Given the description of an element on the screen output the (x, y) to click on. 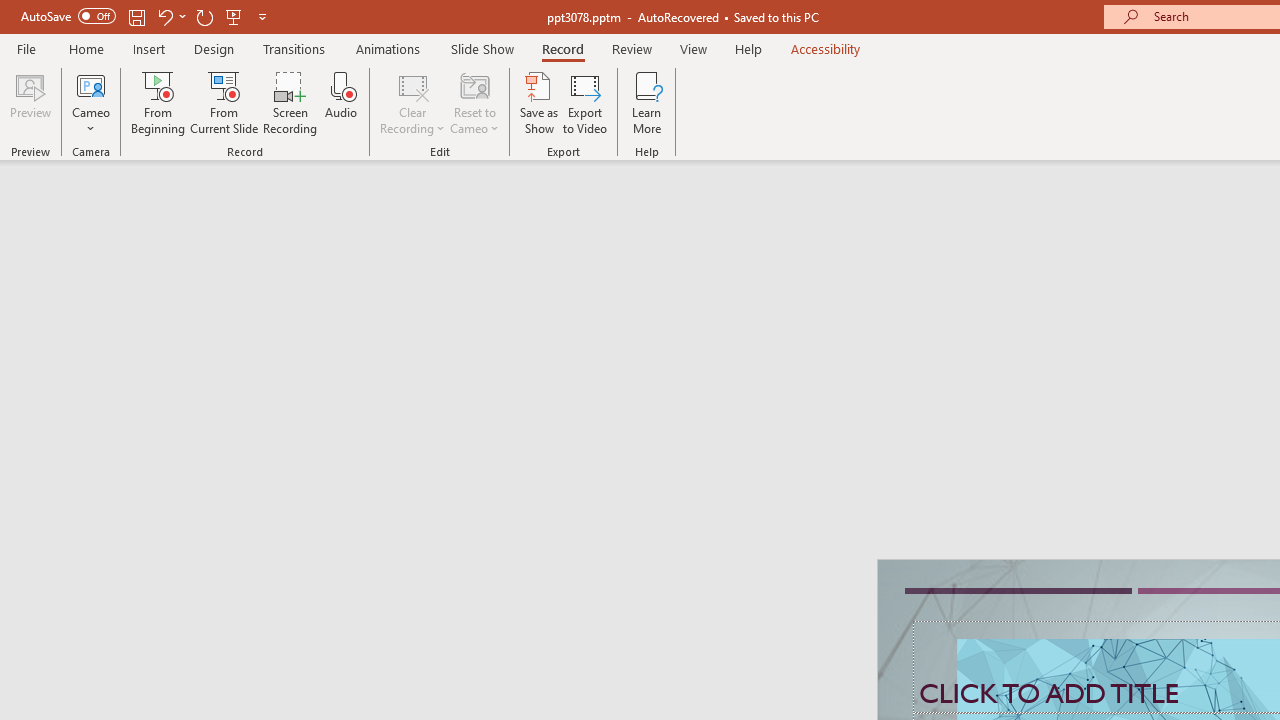
From Current Slide... (224, 102)
From Beginning... (158, 102)
Clear Recording (412, 102)
